Given the description of an element on the screen output the (x, y) to click on. 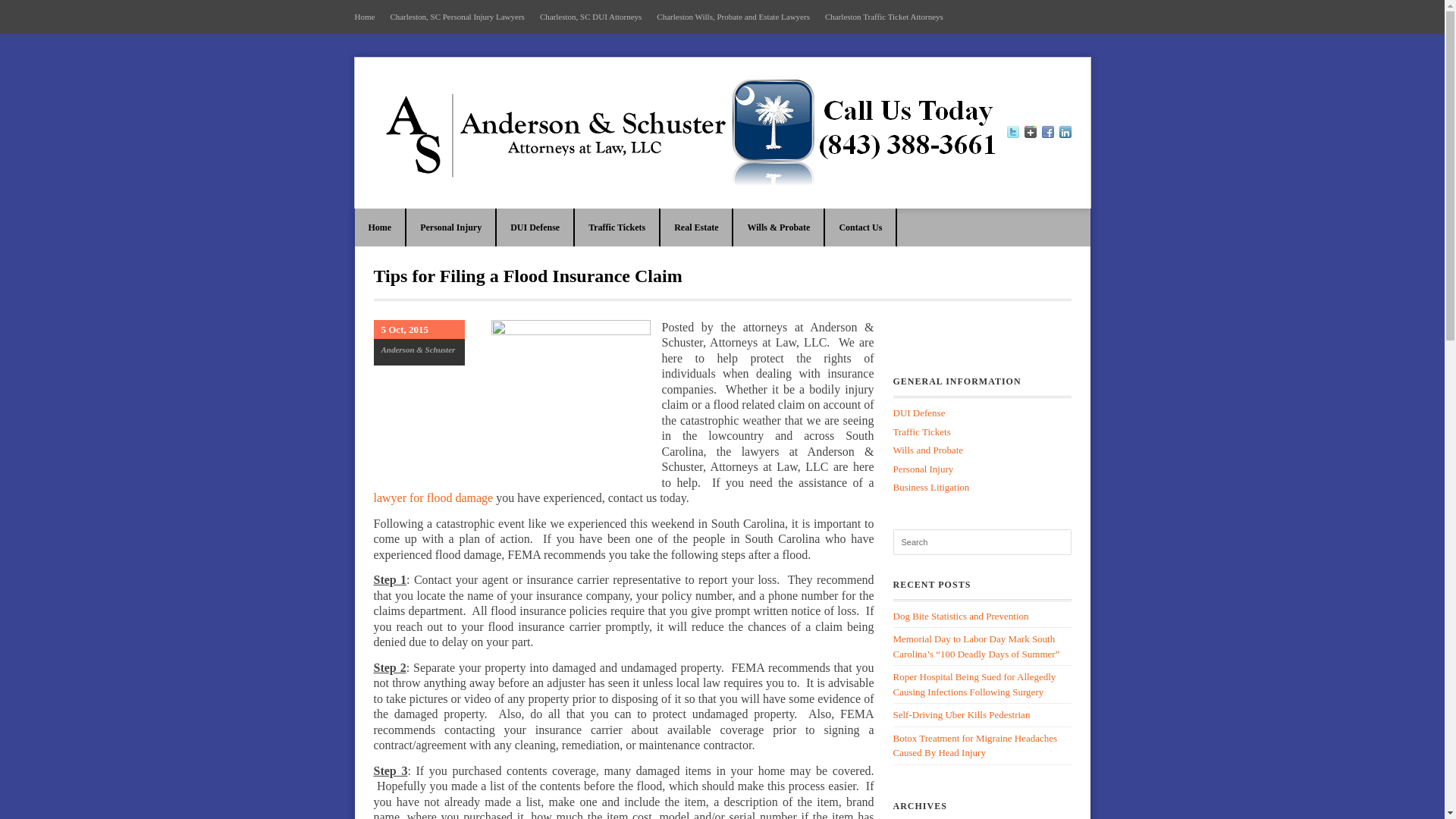
Home (368, 17)
Charleston, SC DUI Attorneys (594, 17)
DUI Defense (534, 227)
Traffic Tickets (616, 227)
Personal Injury (451, 227)
Charleston Wills, Probate and Estate Lawyers (736, 17)
facebook (1048, 134)
Charleston, SC Personal Injury Lawyers (461, 17)
twitter (1013, 134)
Charleston Traffic Ticket Attorneys (887, 17)
linkedin (1064, 134)
googleplus (1029, 134)
Search (982, 542)
Home (380, 227)
